Given the description of an element on the screen output the (x, y) to click on. 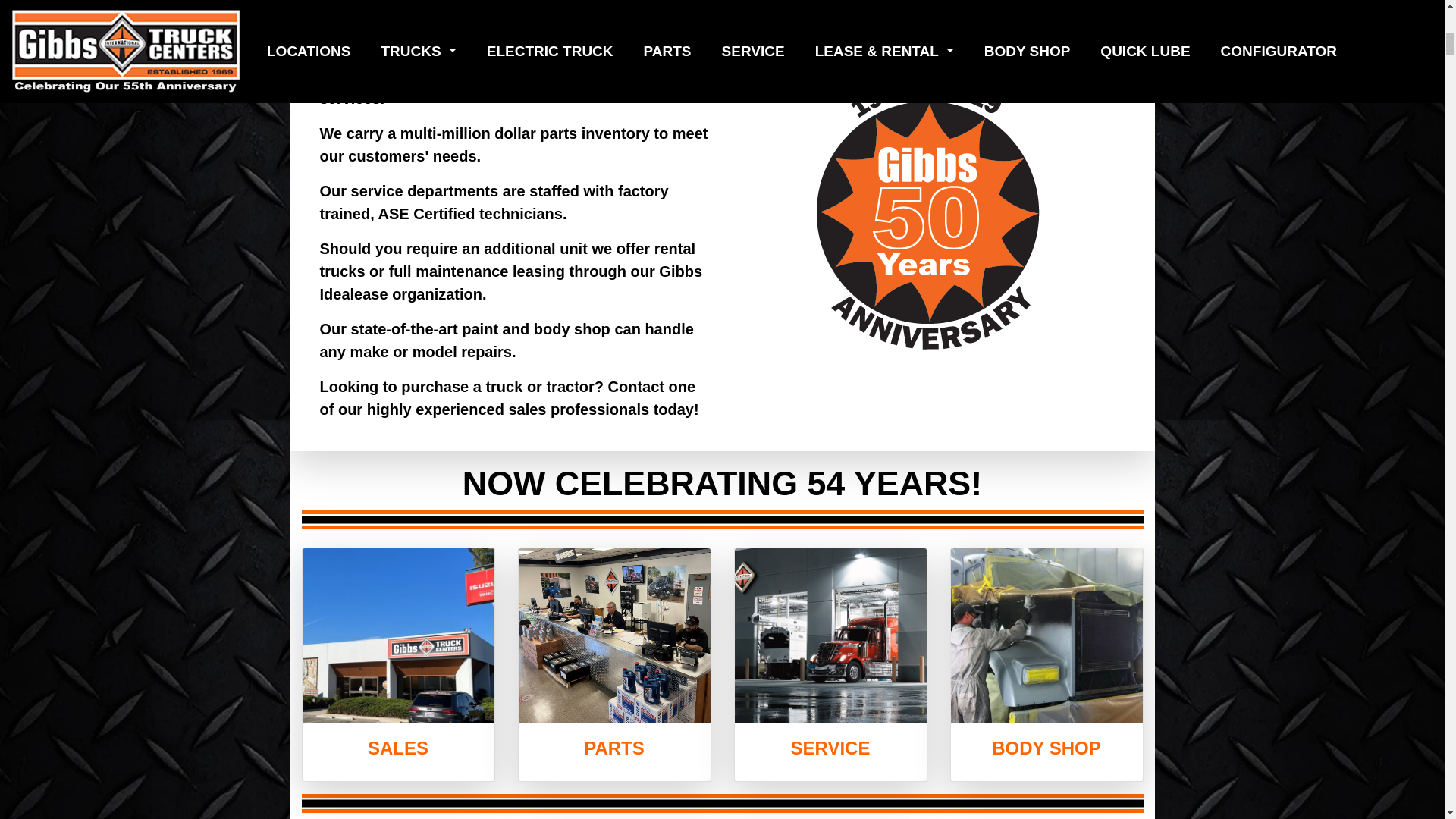
BODY SHOP (1045, 747)
SERVICE (830, 747)
PARTS (614, 747)
SALES (398, 747)
